Given the description of an element on the screen output the (x, y) to click on. 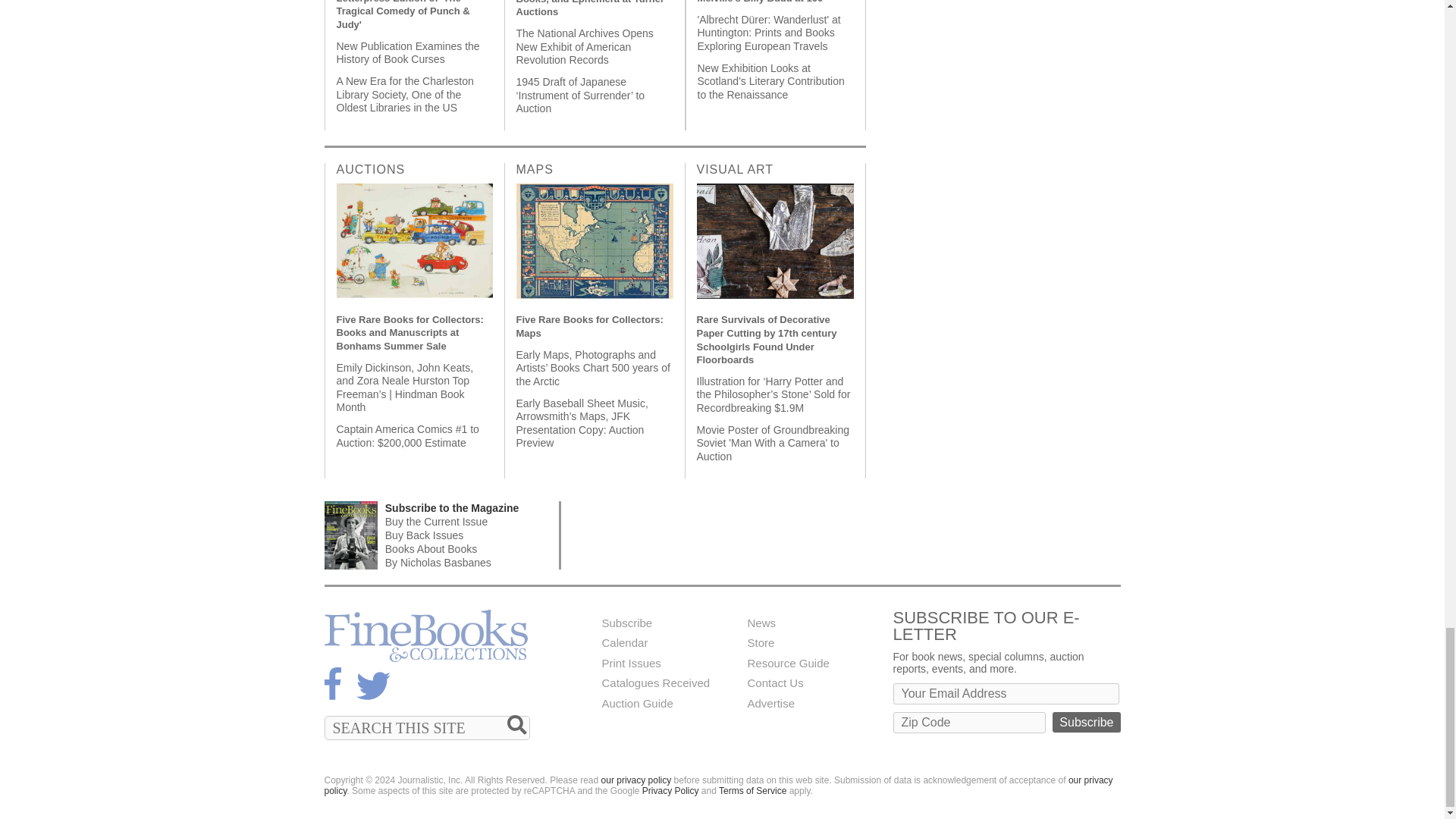
Subscribe (1085, 721)
3rd party ad content (845, 535)
